Given the description of an element on the screen output the (x, y) to click on. 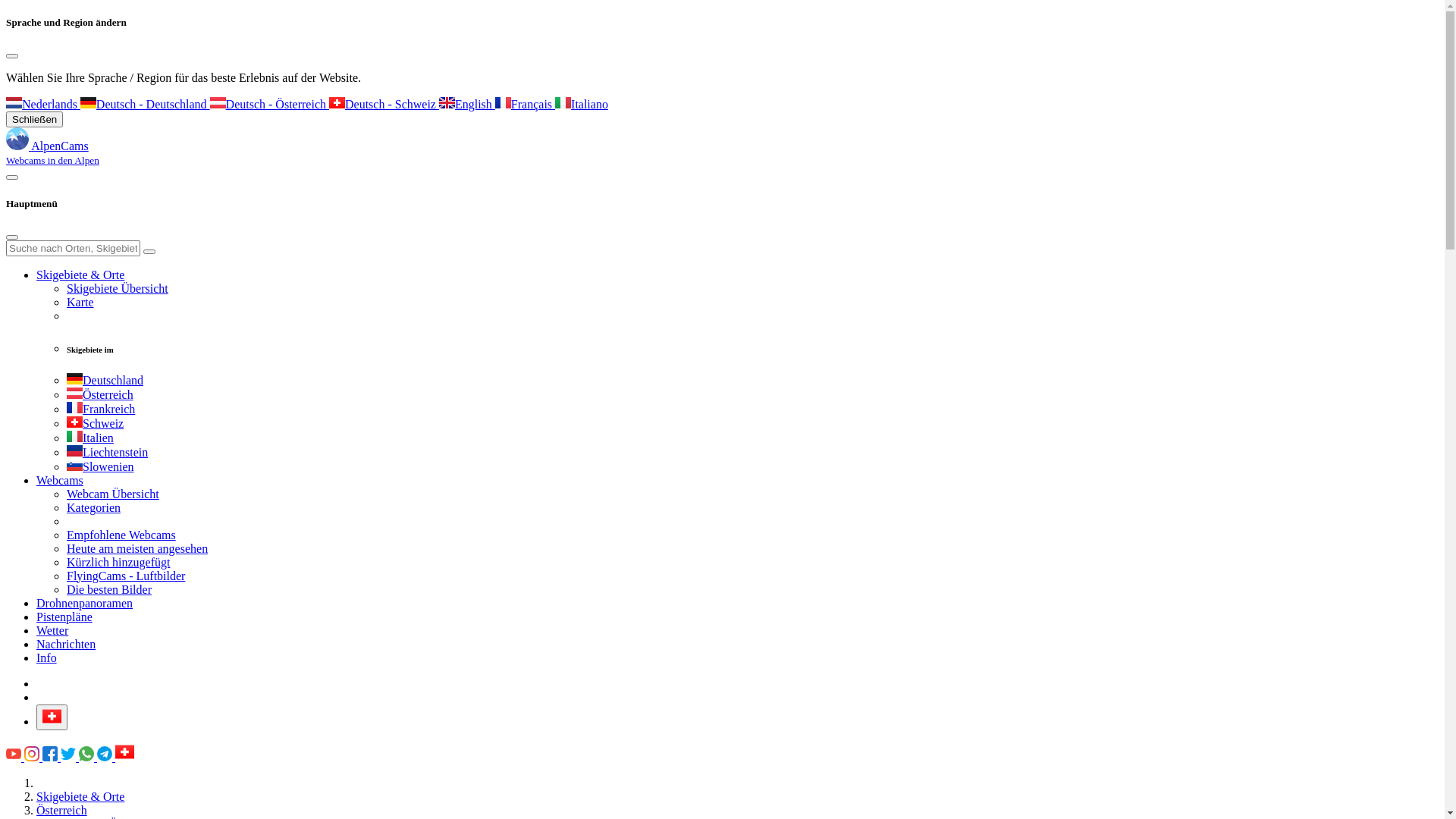
Liechtenstein Element type: hover (74, 450)
AlpenCams Facebook Element type: hover (49, 753)
Skigebiete & Orte Element type: text (80, 274)
Deutsch - Schweiz Element type: text (384, 103)
Nederlands Element type: hover (13, 102)
AlpenCams WhatsApp Element type: hover (86, 753)
Wetter Element type: text (52, 630)
AlpenCams
Webcams in den Alpen Element type: text (52, 152)
Schweiz Element type: text (94, 423)
AlpenCams Logo Element type: hover (17, 138)
FlyingCams - Luftbilder Element type: text (125, 575)
Webcams Element type: text (59, 479)
English Element type: hover (447, 102)
AlpenCams Instagram Element type: hover (31, 753)
Skigebiete & Orte Element type: text (80, 796)
AlpenCams Telegram Element type: hover (106, 756)
Deutsch - Schweiz Element type: hover (124, 751)
Schweiz Element type: hover (74, 421)
AlpenCams Twitter Element type: hover (69, 756)
Deutsch - Schweiz Element type: hover (337, 102)
Italien Element type: text (89, 437)
Deutschland Element type: text (104, 379)
Die besten Bilder Element type: text (108, 589)
Italiano Element type: text (581, 103)
Frankreich Element type: hover (74, 407)
AlpenCams Instagram Element type: hover (33, 756)
Info Element type: text (46, 657)
Empfohlene Webcams Element type: text (120, 534)
Deutsch - Deutschland Element type: text (145, 103)
Nederlands Element type: text (43, 103)
Slowenien Element type: text (100, 466)
AlpenCams Facebook Element type: hover (51, 756)
Frankreich Element type: text (100, 408)
English Element type: text (467, 103)
Italien Element type: hover (74, 436)
AlpenCams WhatsApp Element type: hover (87, 756)
Drohnenpanoramen Element type: text (84, 602)
Heute am meisten angesehen Element type: text (136, 548)
Nachrichten Element type: text (65, 643)
AlpenCams YouTube Element type: hover (13, 753)
Kategorien Element type: text (93, 507)
Liechtenstein Element type: text (106, 451)
AlpenCams Twitter Element type: hover (67, 753)
Italiano Element type: hover (563, 102)
Deutschland Element type: hover (74, 378)
Deutsch - Deutschland Element type: hover (88, 102)
AlpenCams YouTube Element type: hover (15, 756)
AlpenCams Telegram Element type: hover (104, 753)
Slowenien Element type: hover (74, 464)
Karte Element type: text (80, 301)
Deutsch - Schweiz Element type: hover (51, 715)
